Given the description of an element on the screen output the (x, y) to click on. 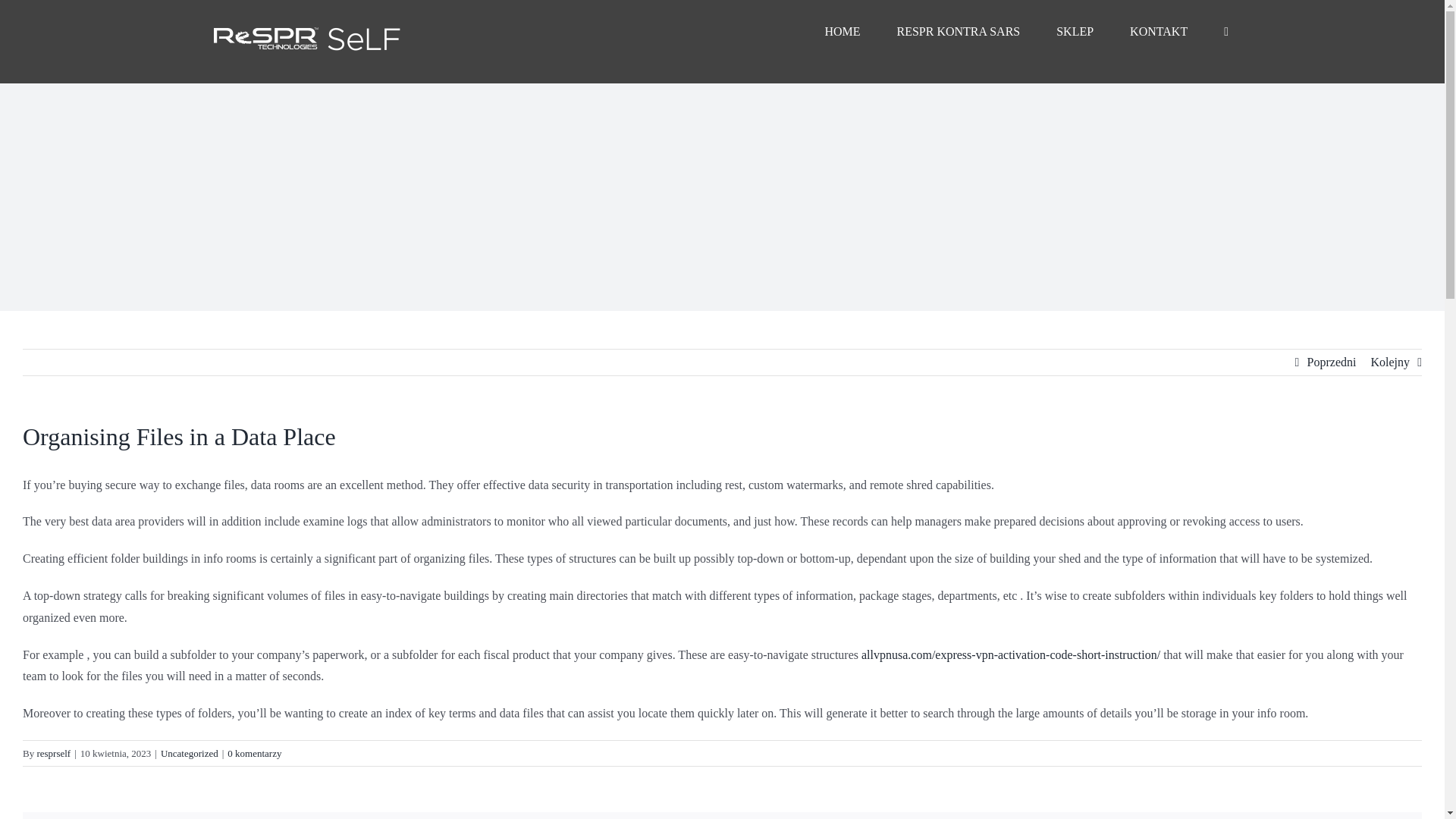
RESPR KONTRA SARS (958, 31)
Uncategorized (189, 753)
Poprzedni (1331, 362)
resprself (52, 753)
KONTAKT (1158, 31)
Kolejny (1389, 362)
0 komentarzy (254, 753)
